Given the description of an element on the screen output the (x, y) to click on. 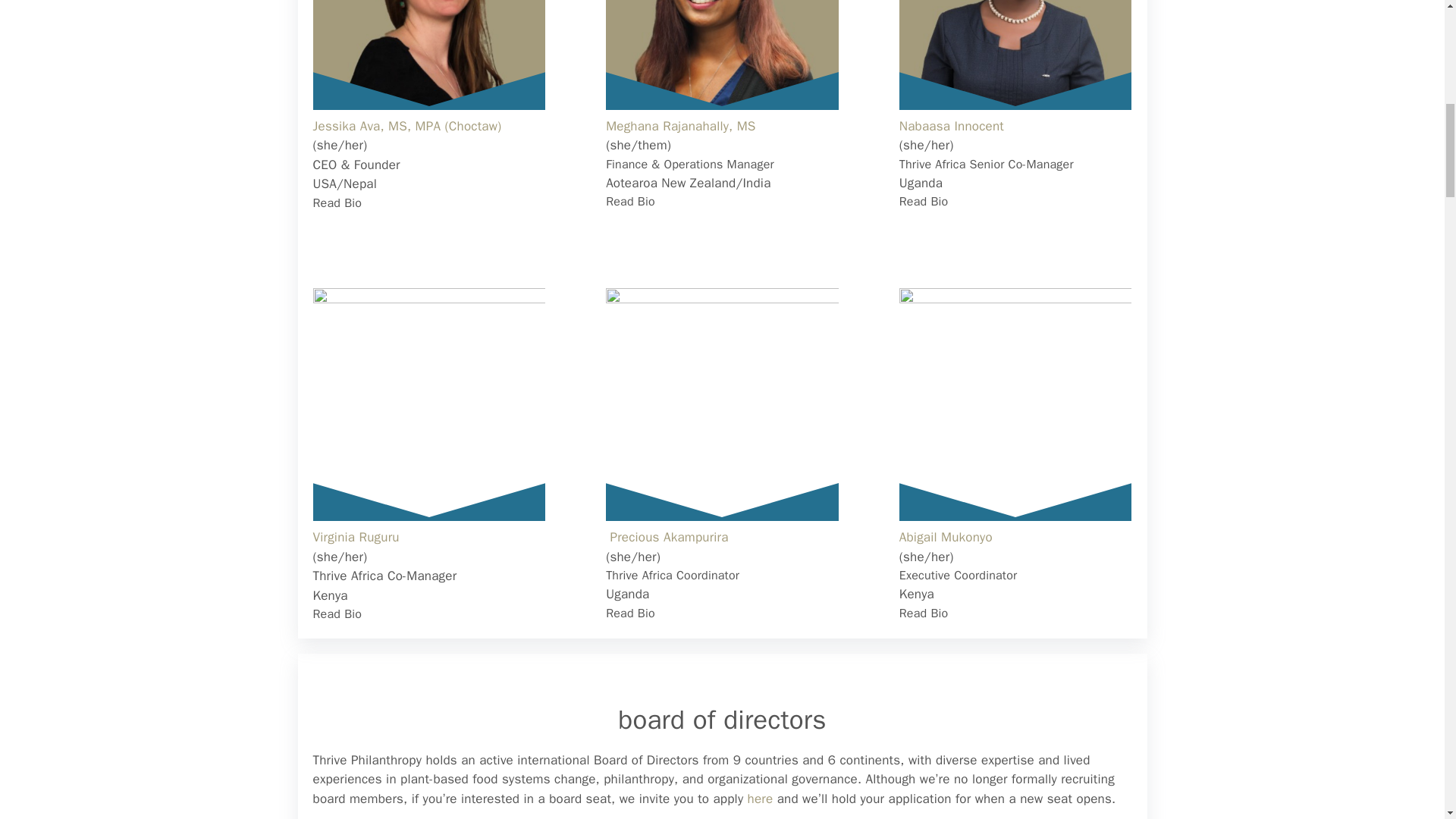
Headshots-for-website-3 (428, 404)
3 (1015, 54)
2 (721, 54)
1 (428, 54)
